Given the description of an element on the screen output the (x, y) to click on. 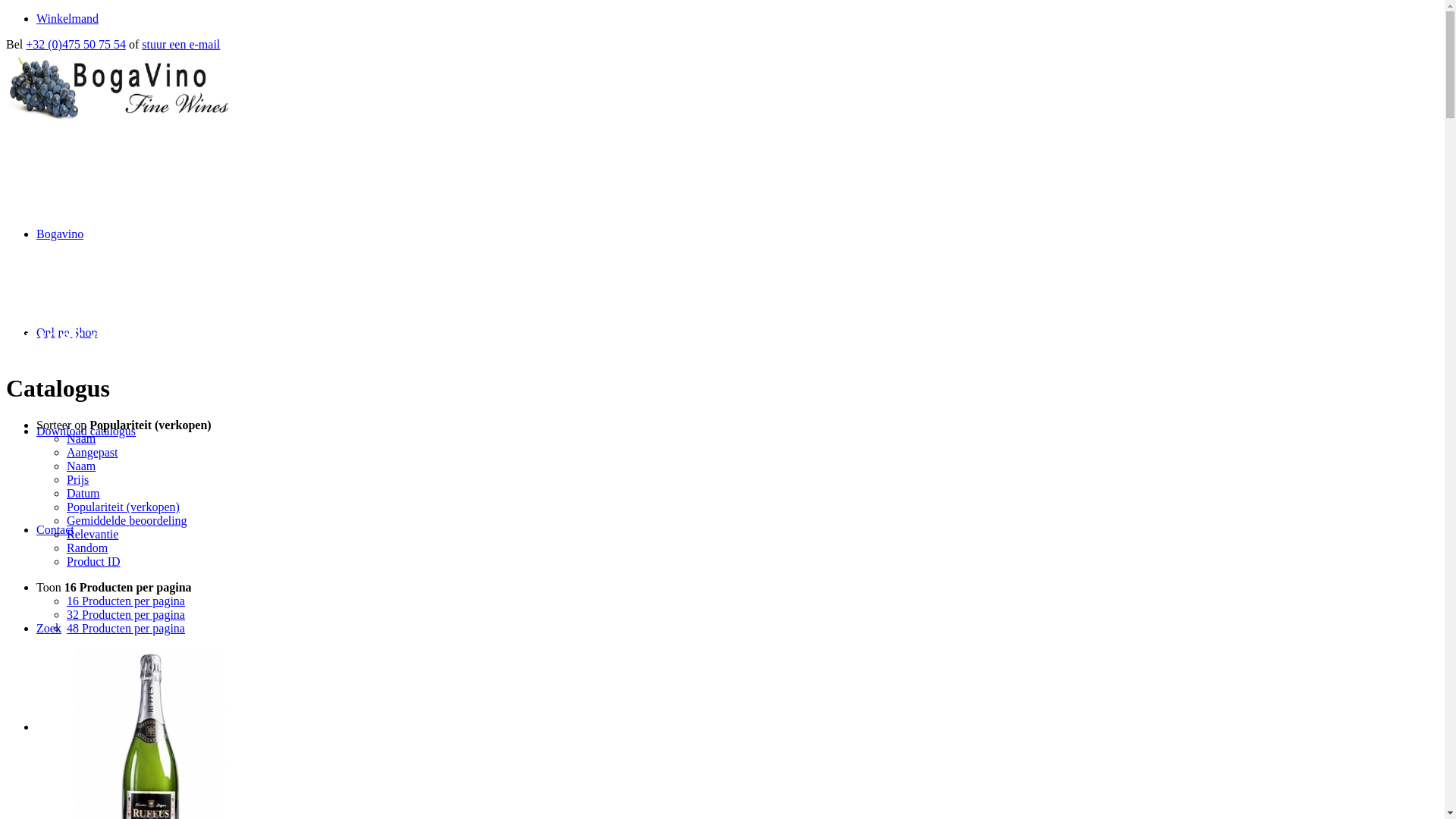
32 Producten per pagina Element type: text (125, 614)
Product ID Element type: text (93, 561)
Prijs Element type: text (77, 479)
Online Shop Element type: text (66, 332)
stuur een e-mail Element type: text (180, 43)
Random Element type: text (86, 547)
Bogavino Element type: text (59, 233)
Zoek Element type: text (48, 627)
Menu Element type: text (51, 726)
16 Producten per pagina Element type: text (125, 600)
48 Producten per pagina Element type: text (125, 627)
Contact Element type: text (55, 529)
Naam Element type: text (80, 465)
Winkelmand Element type: text (67, 18)
+32 (0)475 50 75 54 Element type: text (75, 43)
Datum Element type: text (83, 492)
Naam Element type: text (80, 438)
Gemiddelde beoordeling Element type: text (126, 520)
Aangepast Element type: text (92, 451)
Download catalogus Element type: text (85, 430)
Relevantie Element type: text (92, 533)
Populariteit (verkopen) Element type: text (122, 506)
